Given the description of an element on the screen output the (x, y) to click on. 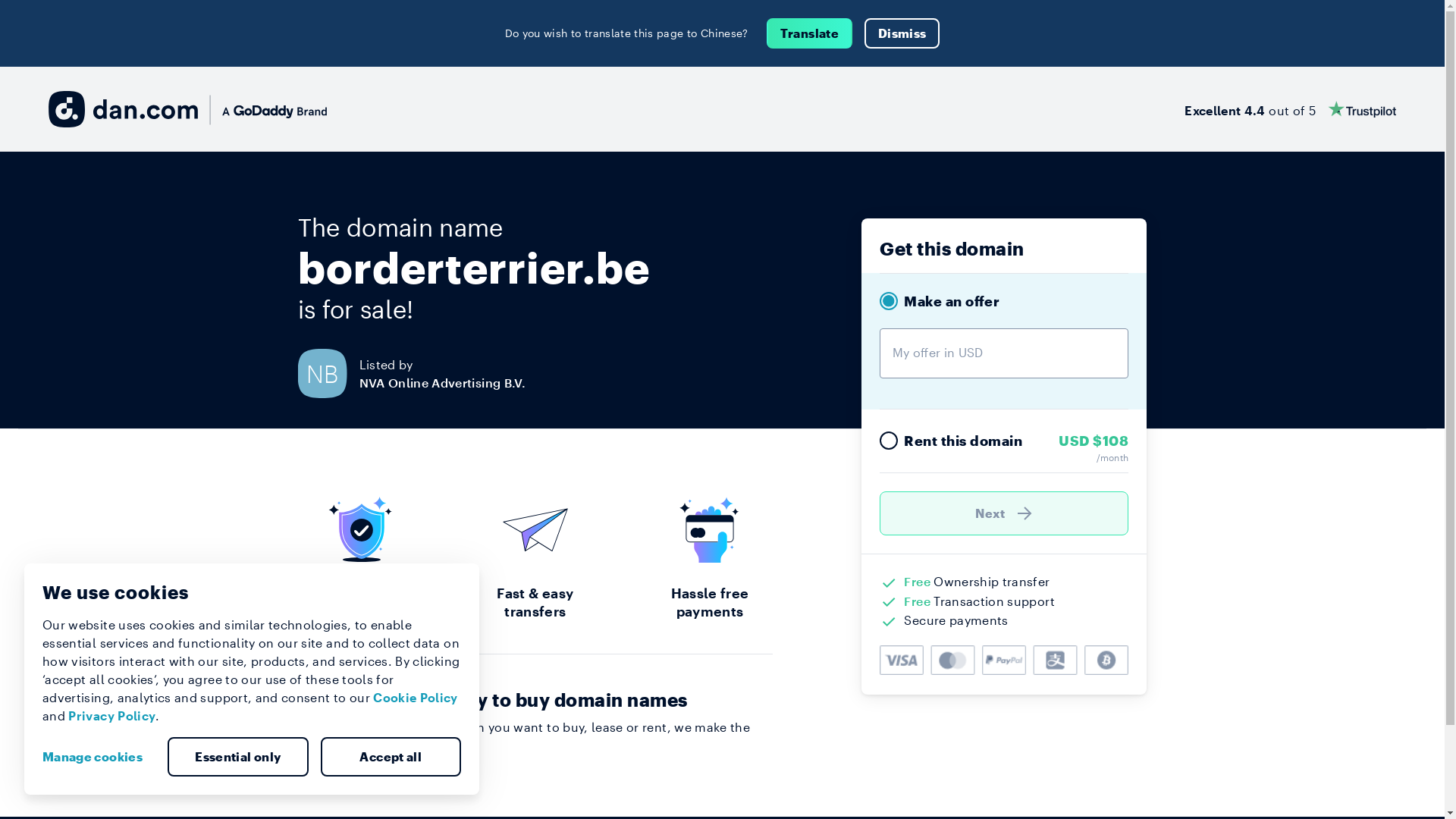
Next
) Element type: text (1003, 513)
Excellent 4.4 out of 5 Element type: text (1290, 109)
Manage cookies Element type: text (98, 756)
Accept all Element type: text (390, 756)
Cookie Policy Element type: text (415, 697)
Essential only Element type: text (237, 756)
Dismiss Element type: text (901, 33)
Privacy Policy Element type: text (111, 715)
Translate Element type: text (809, 33)
